Given the description of an element on the screen output the (x, y) to click on. 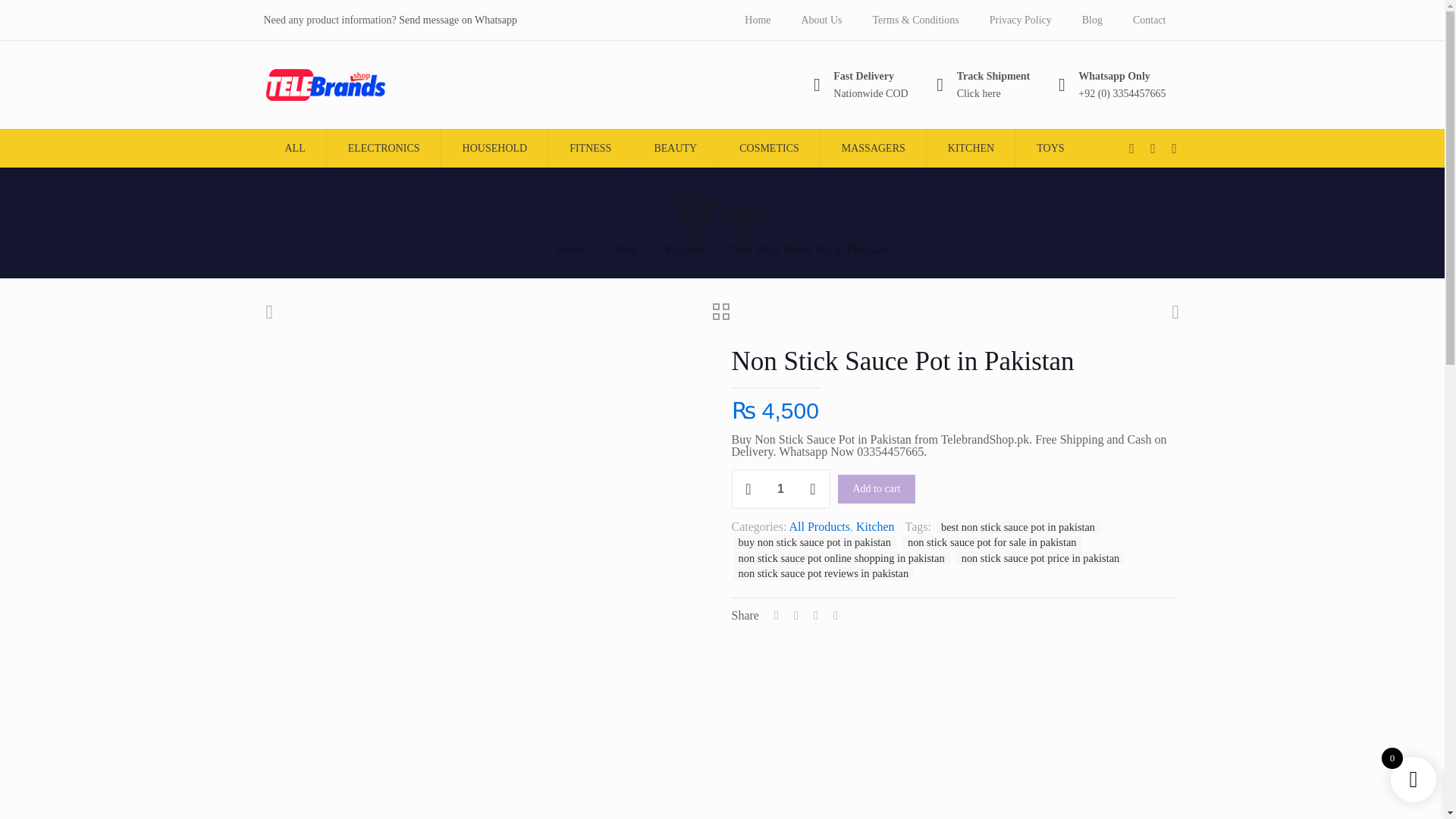
Send message on Whatsapp (457, 19)
FITNESS (589, 147)
MASSAGERS (873, 147)
HOUSEHOLD (494, 147)
ELECTRONICS (383, 147)
Contact (1149, 19)
COSMETICS (769, 147)
BEAUTY (674, 147)
Privacy Policy (1020, 19)
1 (779, 488)
ALL (294, 147)
Blog (1092, 19)
KITCHEN (970, 147)
About Us (980, 84)
